Given the description of an element on the screen output the (x, y) to click on. 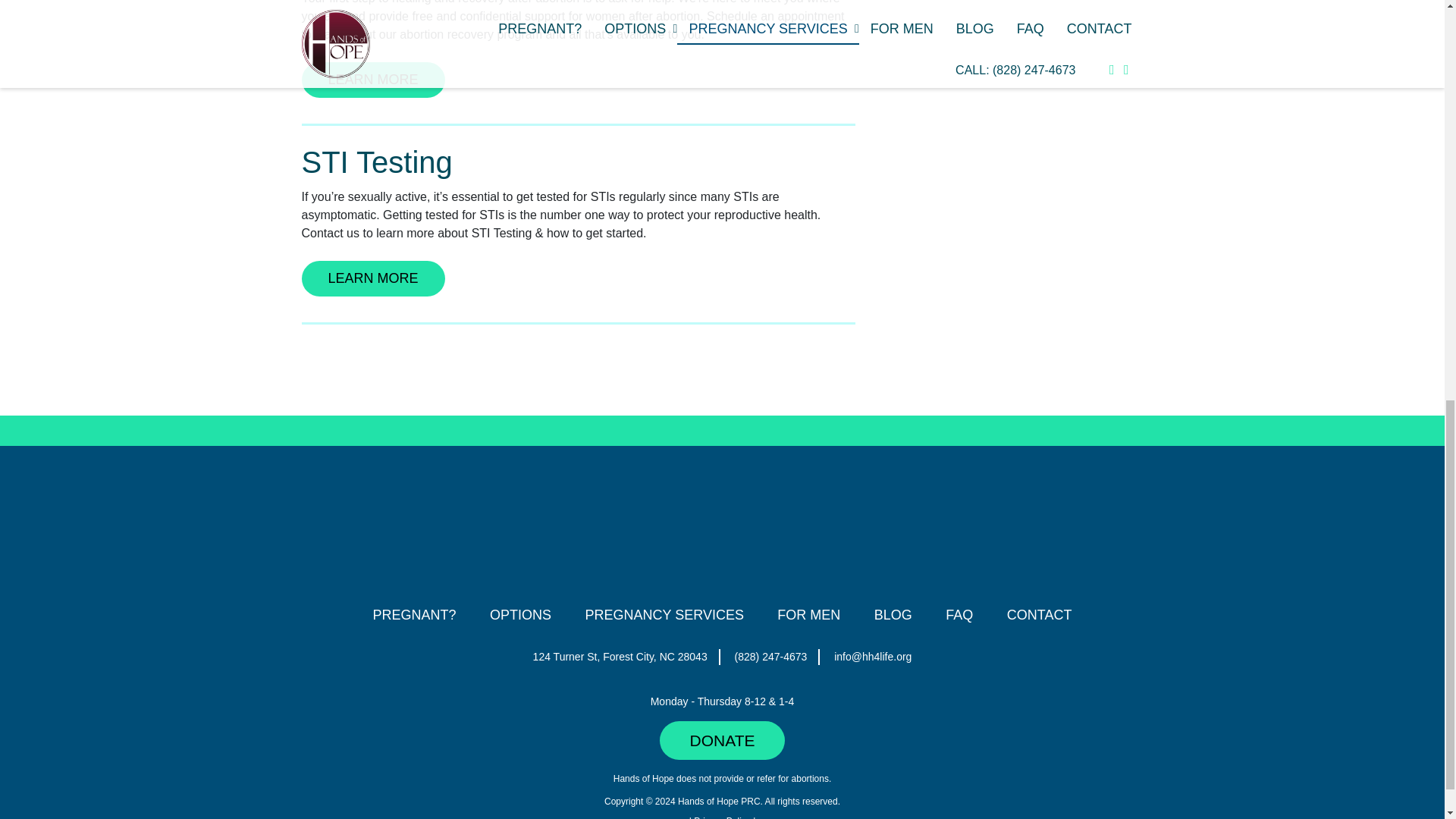
LEARN MORE (373, 278)
BLOG (893, 614)
OPTIONS (520, 614)
LEARN MORE (373, 79)
FOR MEN (808, 614)
PREGNANT? (414, 614)
PREGNANCY SERVICES (664, 614)
